Given the description of an element on the screen output the (x, y) to click on. 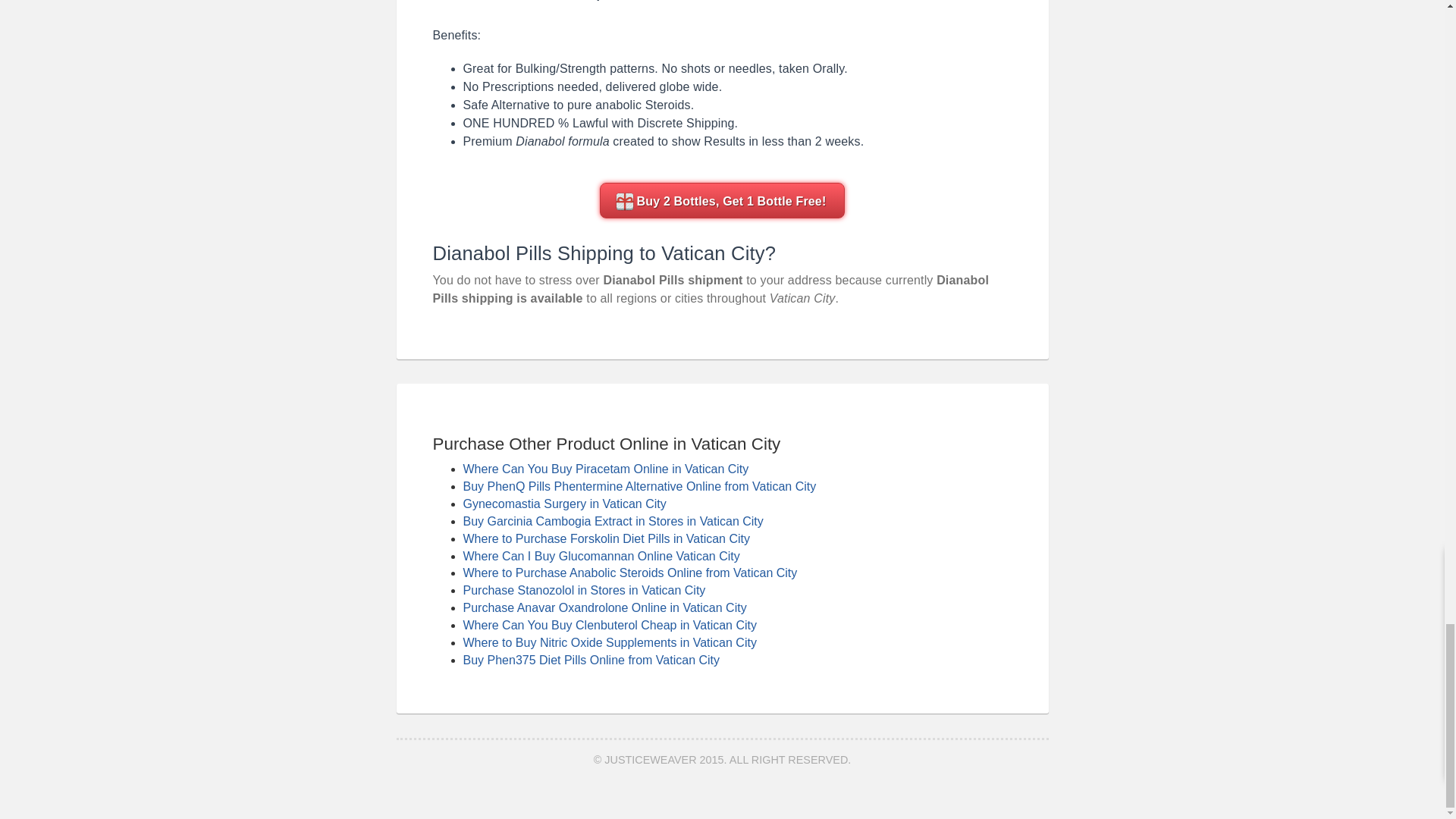
Where to Purchase Anabolic Steroids Online from Vatican City (629, 572)
 Gynecomastia Surgery in Vatican City (564, 503)
Where Can You Buy Clenbuterol Cheap in Vatican City (609, 625)
Where Can You Buy Piracetam Online in Vatican City (605, 468)
Where to Purchase Forskolin Diet Pills in Vatican City (606, 538)
Purchase Stanozolol in Stores in Vatican City (583, 590)
Buy Garcinia Cambogia Extract in Stores in Vatican City (612, 521)
Purchase Stanozolol in Stores in Vatican City (583, 590)
Purchase Anavar Oxandrolone Online in Vatican City (604, 607)
